Given the description of an element on the screen output the (x, y) to click on. 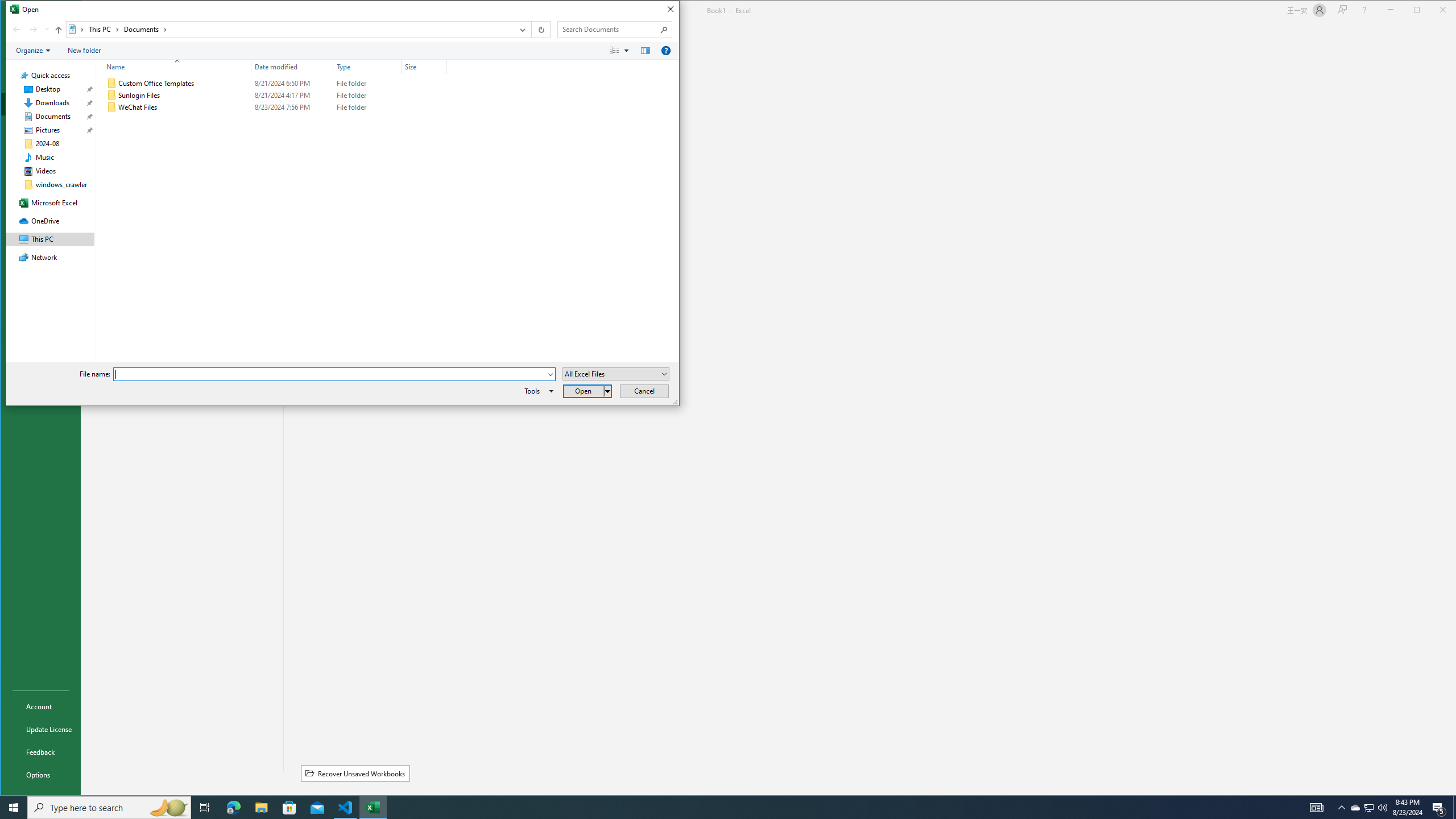
Recent locations (46, 29)
System (11, 11)
File name: (329, 374)
Address band toolbar (531, 29)
Previous Locations (521, 29)
View Slider (626, 50)
New folder (84, 50)
Name (173, 66)
Organize (33, 50)
Date modified (292, 66)
AutomationID: 4105 (1316, 807)
Microsoft Edge (233, 807)
